Given the description of an element on the screen output the (x, y) to click on. 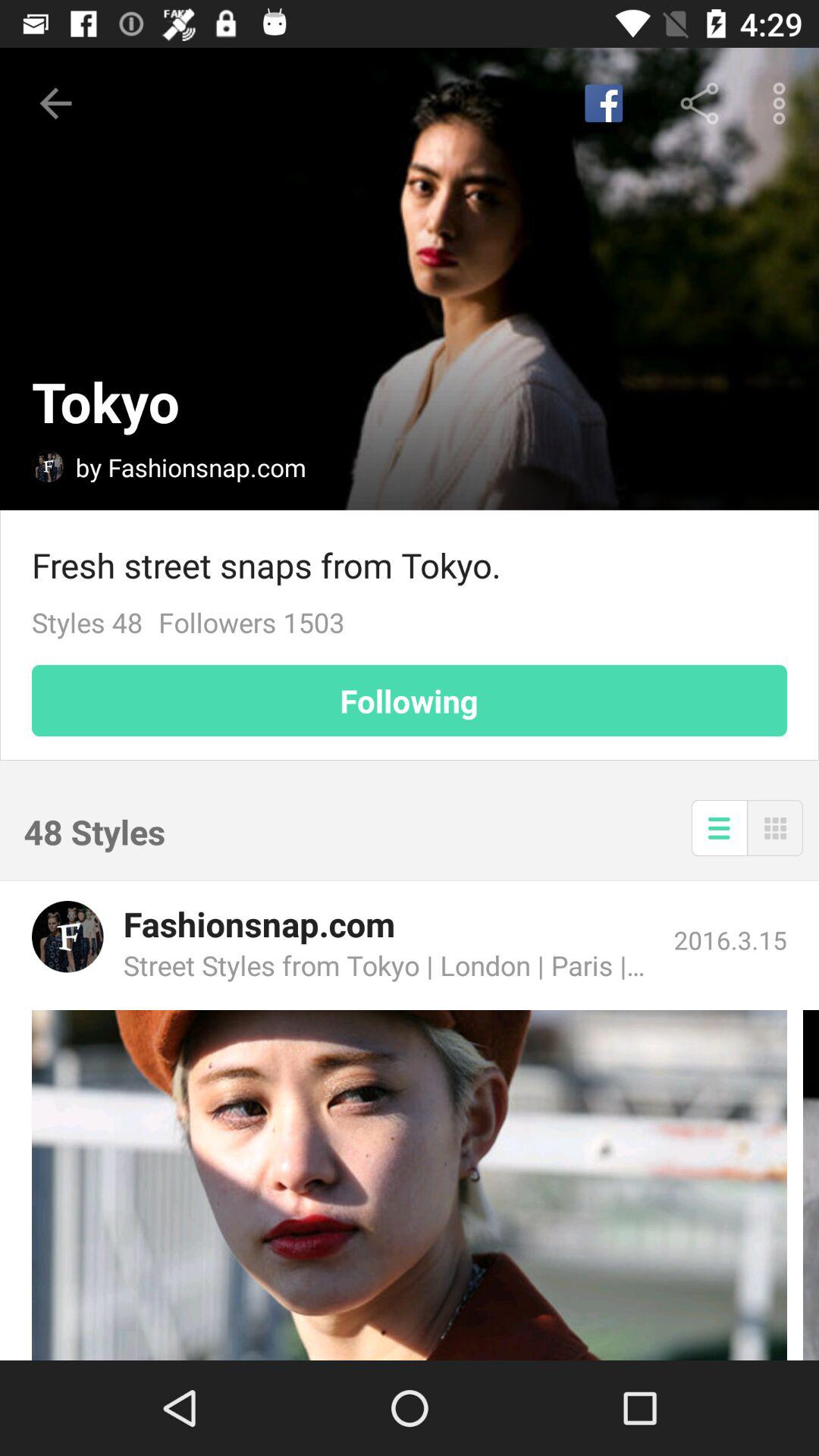
toggle menu appearance (718, 827)
